Given the description of an element on the screen output the (x, y) to click on. 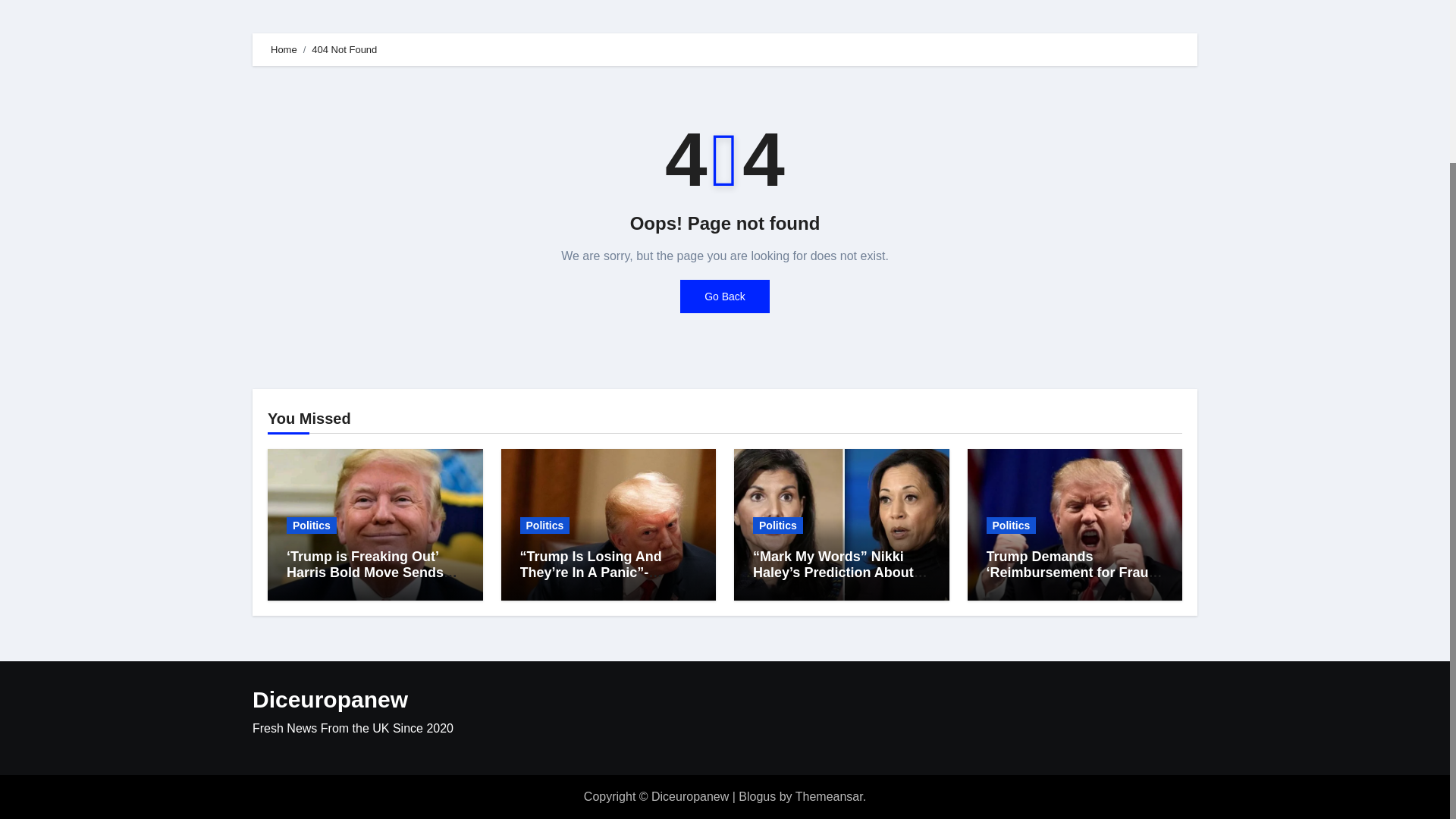
Politics (544, 524)
Home (283, 49)
Go Back (724, 296)
Blogus (757, 796)
Politics (311, 524)
Politics (777, 524)
Themeansar (828, 796)
Politics (1010, 524)
Diceuropanew (329, 699)
